Given the description of an element on the screen output the (x, y) to click on. 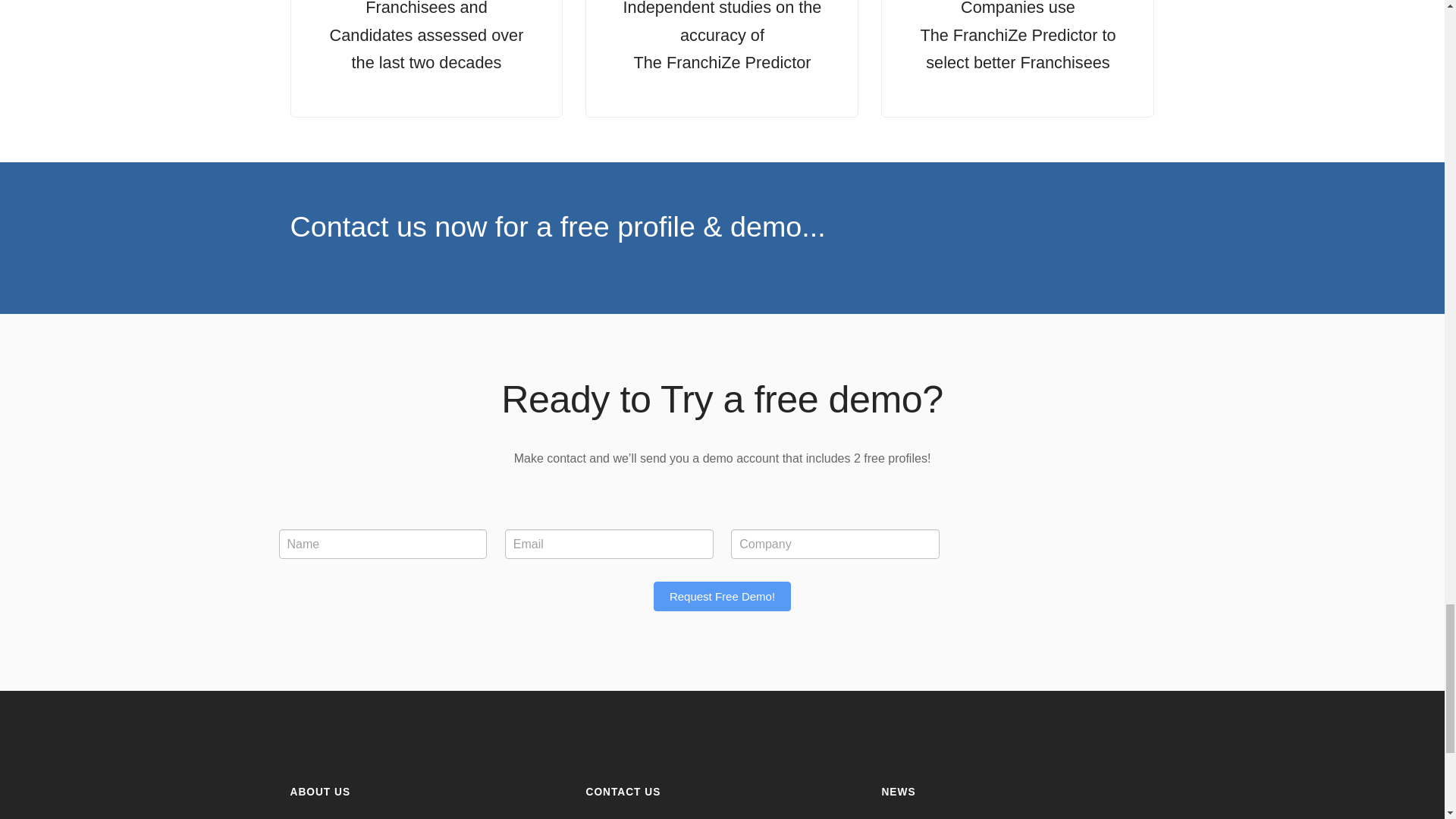
Request Free Demo! (721, 595)
